Given the description of an element on the screen output the (x, y) to click on. 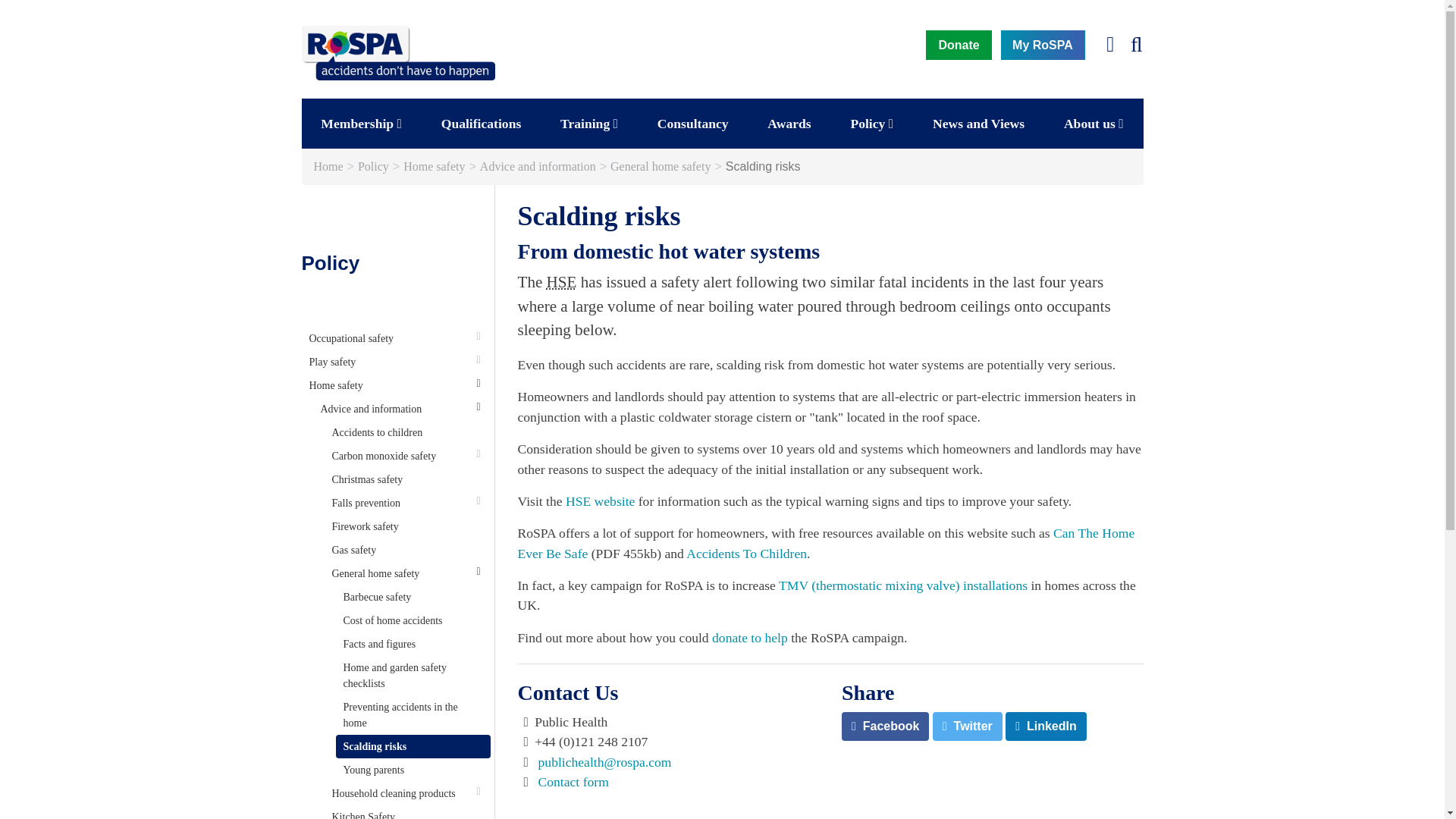
Click here to download this document in PDF format (825, 542)
Policy (373, 167)
Media Centre (328, 167)
Home safety (433, 167)
Donate (958, 44)
General home safety (660, 167)
Qualifications (481, 123)
My RoSPA (1042, 44)
Advice and information (537, 167)
